Given the description of an element on the screen output the (x, y) to click on. 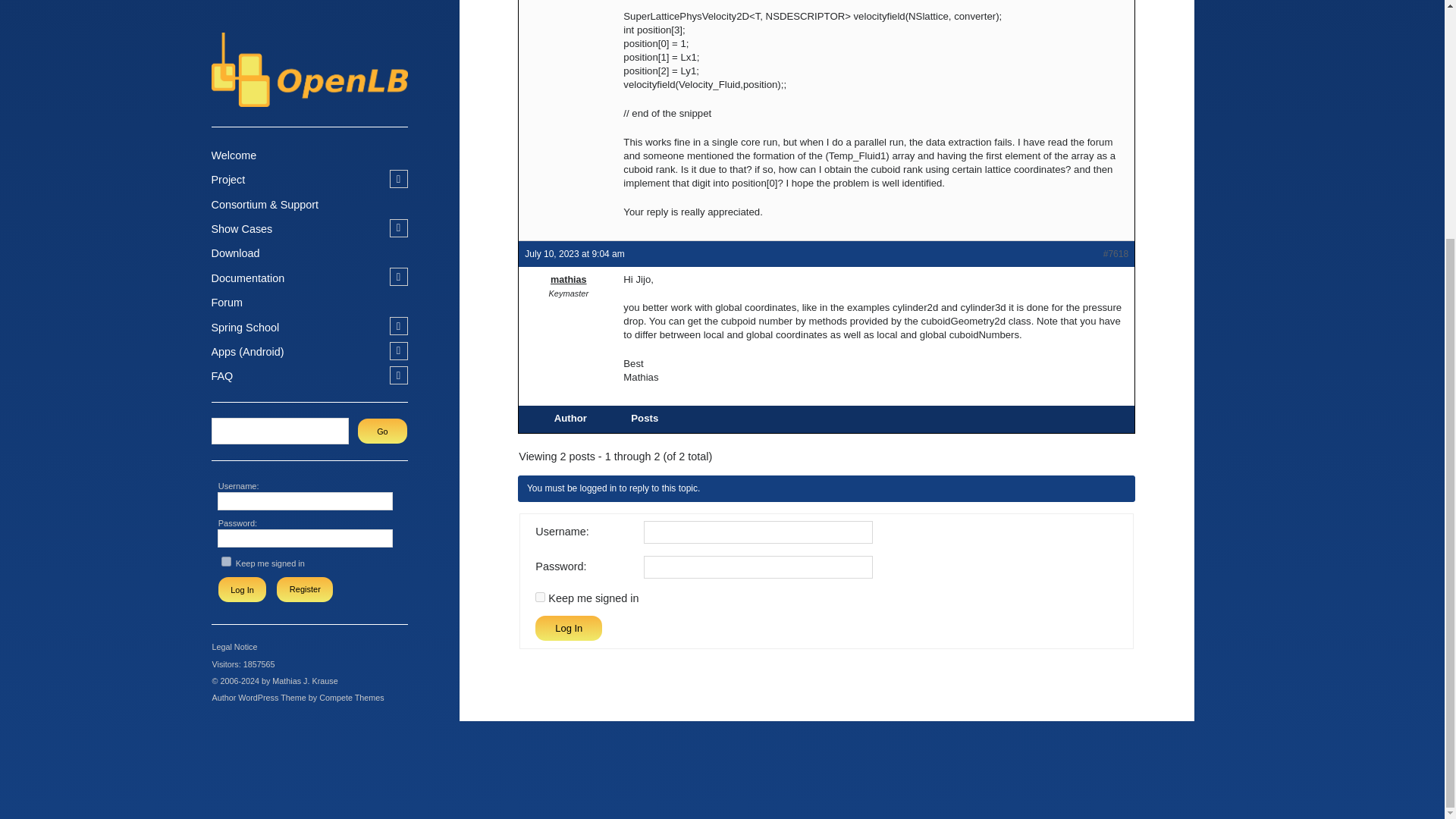
Search for: (280, 104)
forever (539, 596)
View mathias's profile (567, 279)
forever (226, 234)
Go (382, 104)
Go (382, 104)
Register (304, 262)
